Given the description of an element on the screen output the (x, y) to click on. 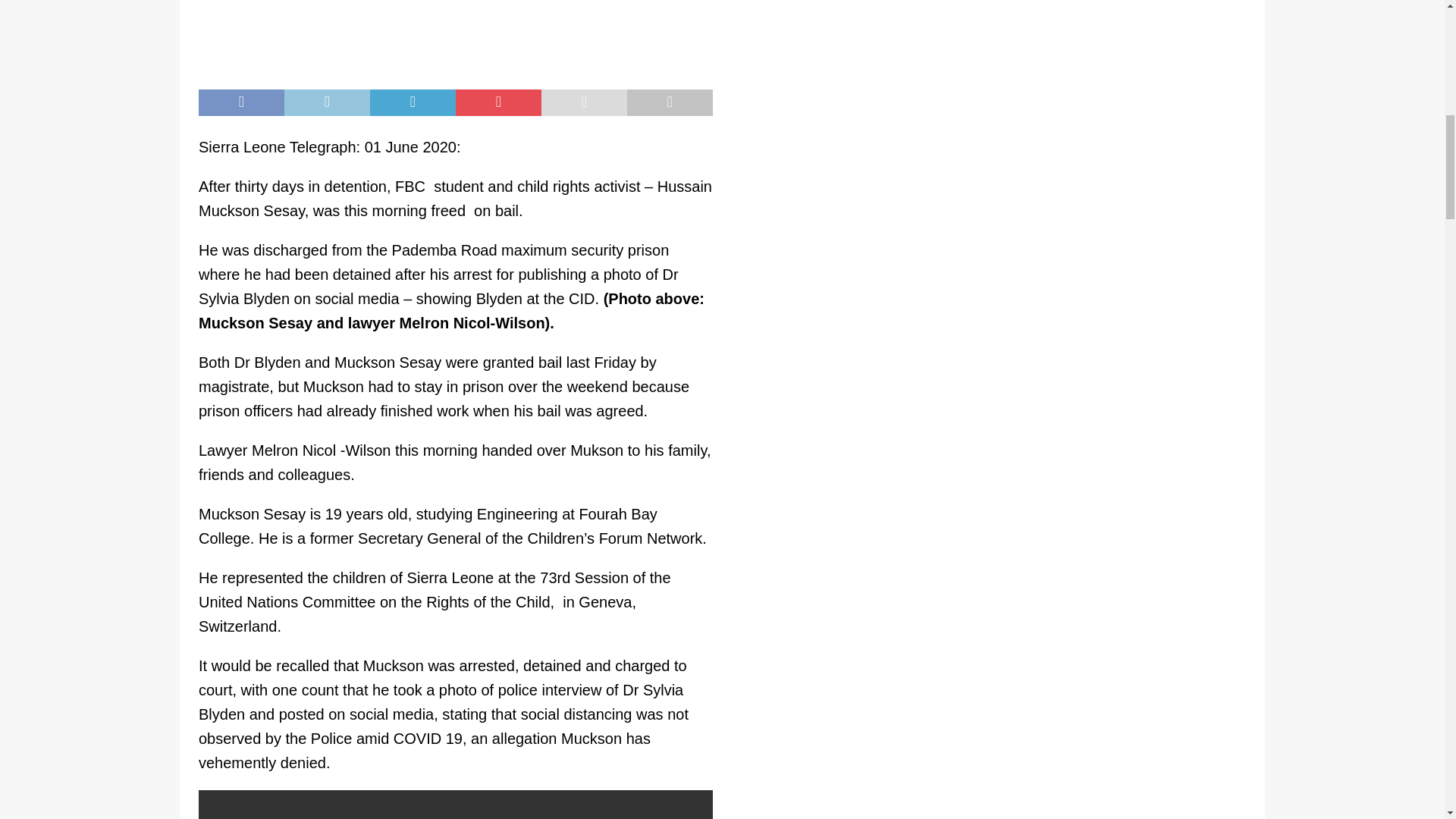
Muckson sesay is out 33 (455, 37)
